Given the description of an element on the screen output the (x, y) to click on. 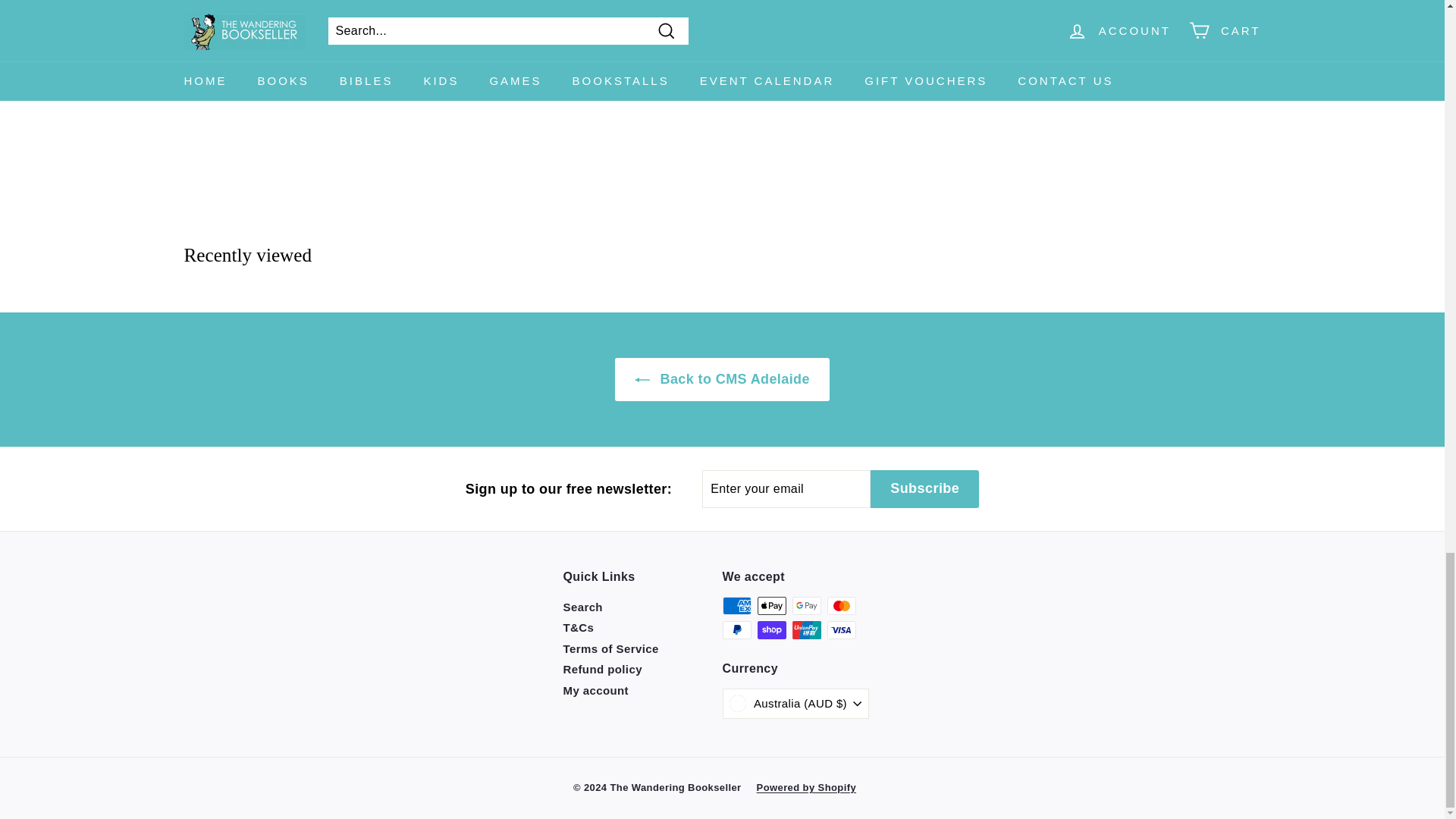
Shop Pay (771, 629)
PayPal (736, 629)
Google Pay (806, 606)
American Express (736, 606)
Union Pay (806, 629)
Apple Pay (771, 606)
Mastercard (841, 606)
Visa (841, 629)
